Given the description of an element on the screen output the (x, y) to click on. 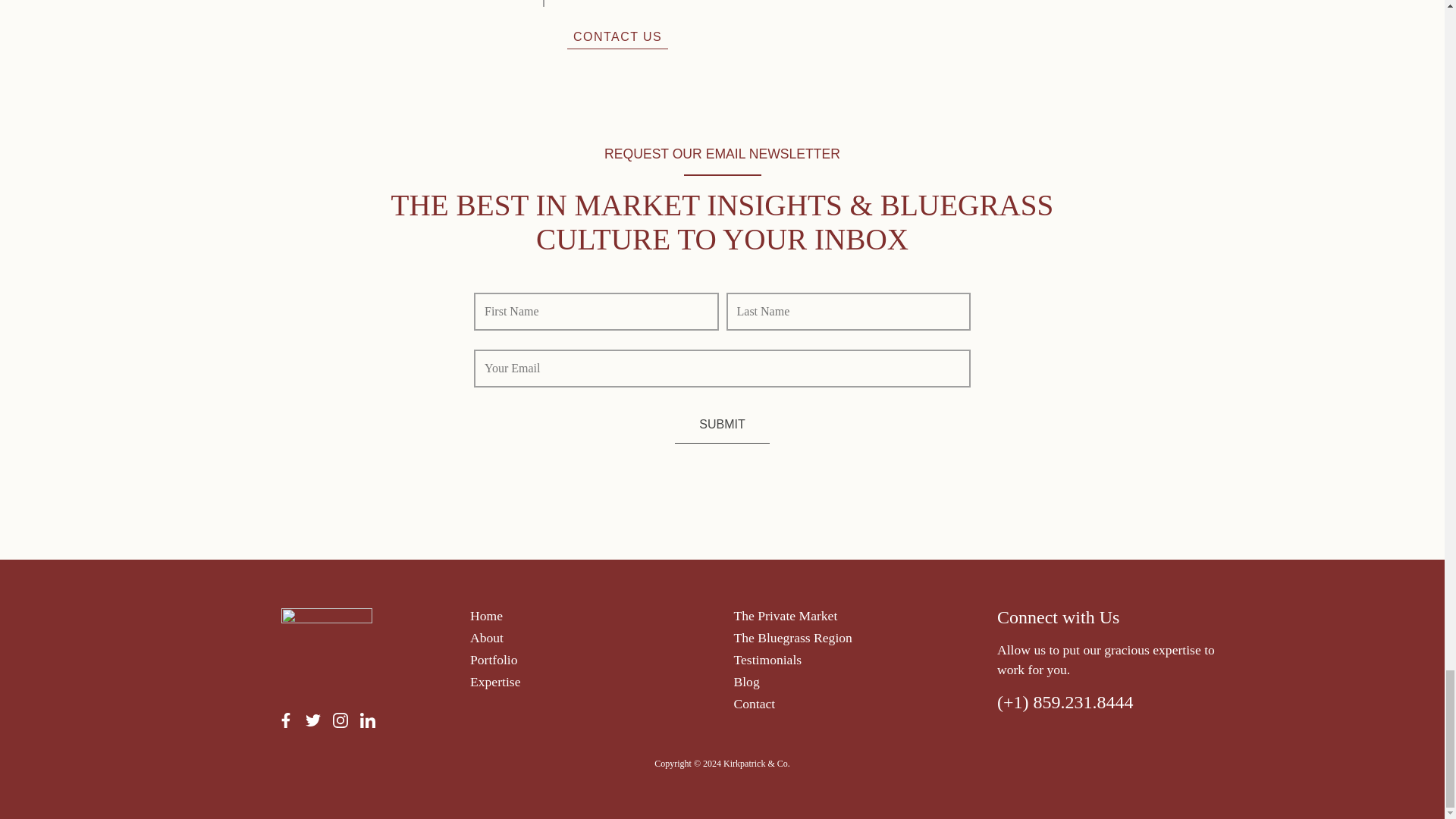
Submit (721, 424)
Home (486, 615)
Portfolio (494, 659)
The Private Market (785, 615)
CONTACT US (617, 37)
The Bluegrass Region (792, 637)
Blog (746, 681)
Expertise (494, 681)
About (486, 637)
Contact (754, 703)
Submit (721, 424)
Testimonials (767, 659)
